Given the description of an element on the screen output the (x, y) to click on. 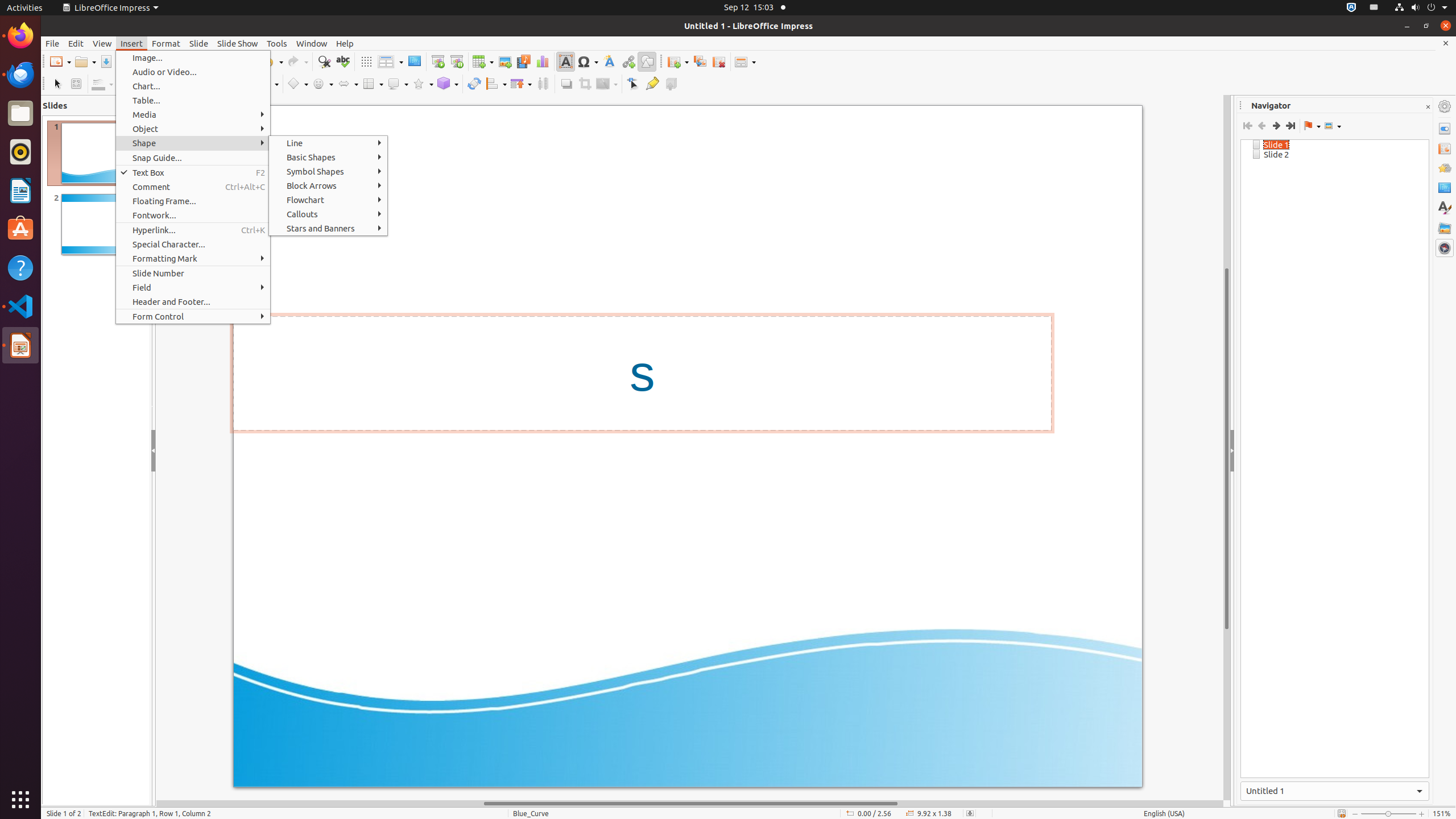
Vertical scroll bar Element type: scroll-bar (1226, 447)
LibreOffice Impress Element type: menu (109, 7)
Styles Element type: radio-button (1444, 208)
Audio or Video... Element type: menu-item (193, 71)
Zoom & Pan Element type: push-button (75, 83)
